Given the description of an element on the screen output the (x, y) to click on. 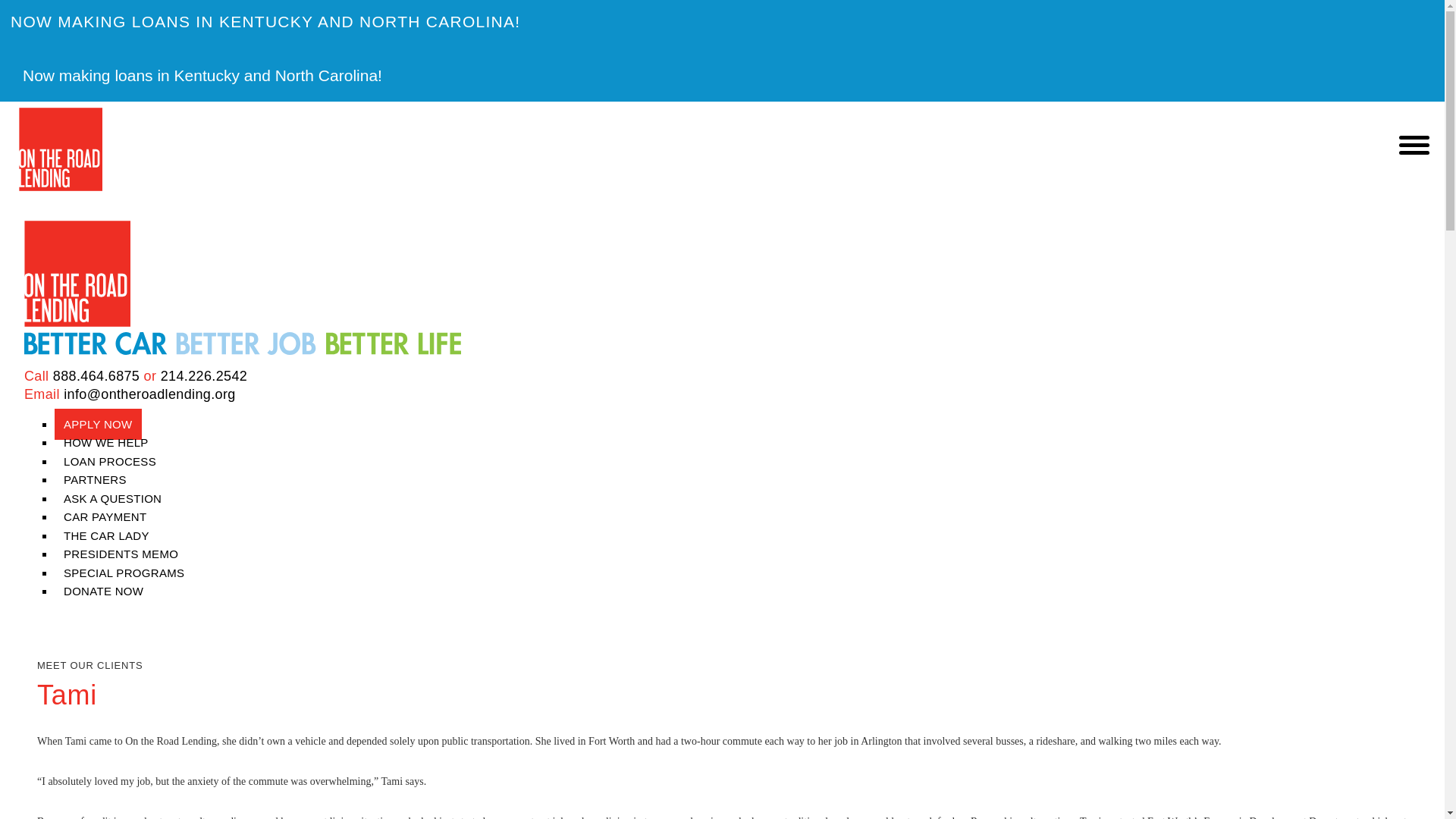
CAR PAYMENT (105, 516)
APPLY NOW (98, 423)
PRESIDENTS MEMO (121, 553)
SPECIAL PROGRAMS (124, 572)
888.464.6875 (95, 376)
HOW WE HELP (106, 441)
NOW MAKING LOANS IN KENTUCKY AND NORTH CAROLINA! (722, 21)
DONATE NOW (98, 590)
214.226.2542 (203, 376)
THE CAR LADY (106, 535)
